Given the description of an element on the screen output the (x, y) to click on. 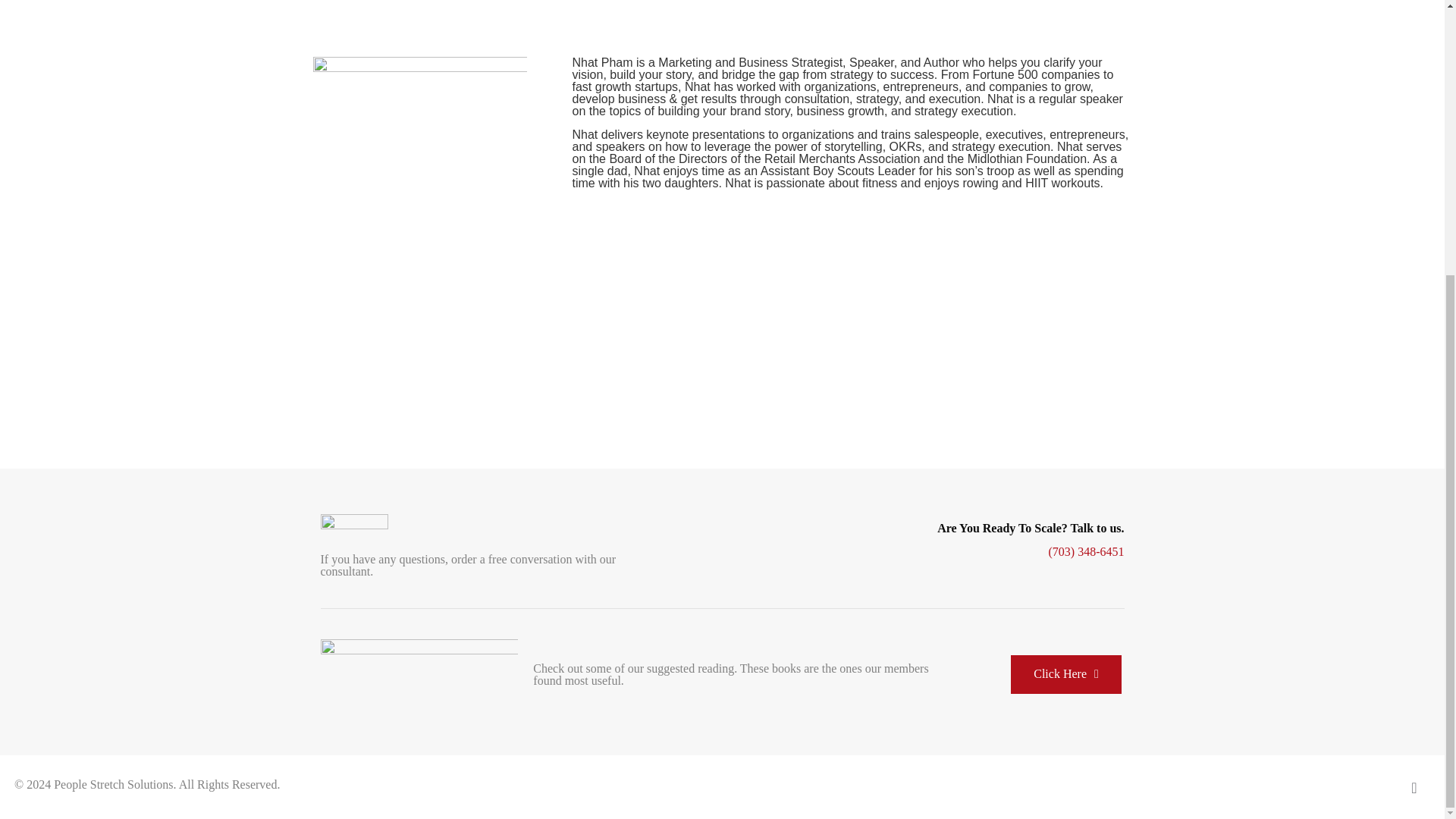
Click Here (1065, 674)
